Given the description of an element on the screen output the (x, y) to click on. 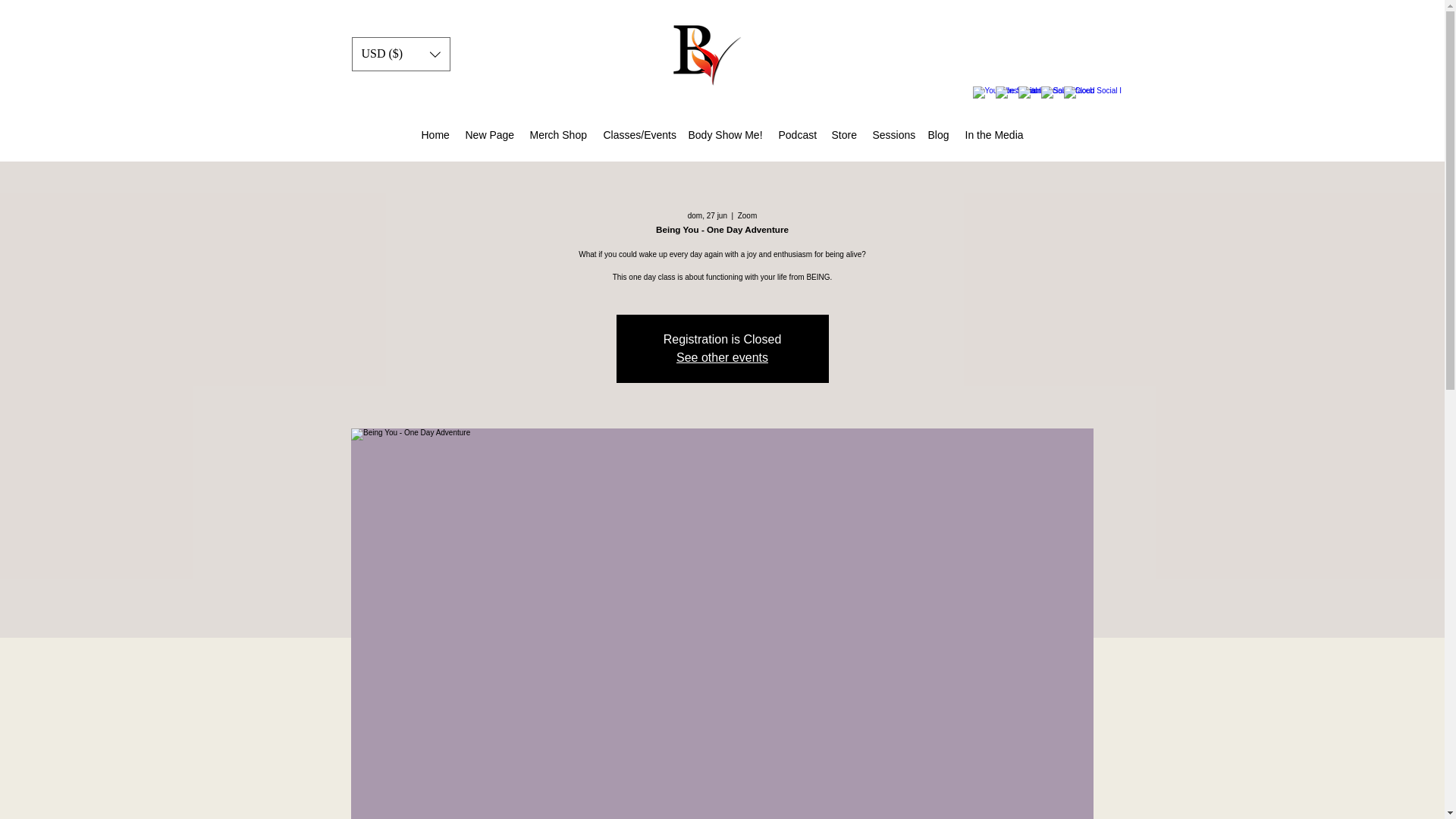
Store (844, 134)
Podcast (797, 134)
Home (435, 134)
Blog (939, 134)
See other events (722, 357)
Merch Shop (558, 134)
Sessions (892, 134)
In the Media (994, 134)
New Page (490, 134)
Body Show Me! (726, 134)
